Given the description of an element on the screen output the (x, y) to click on. 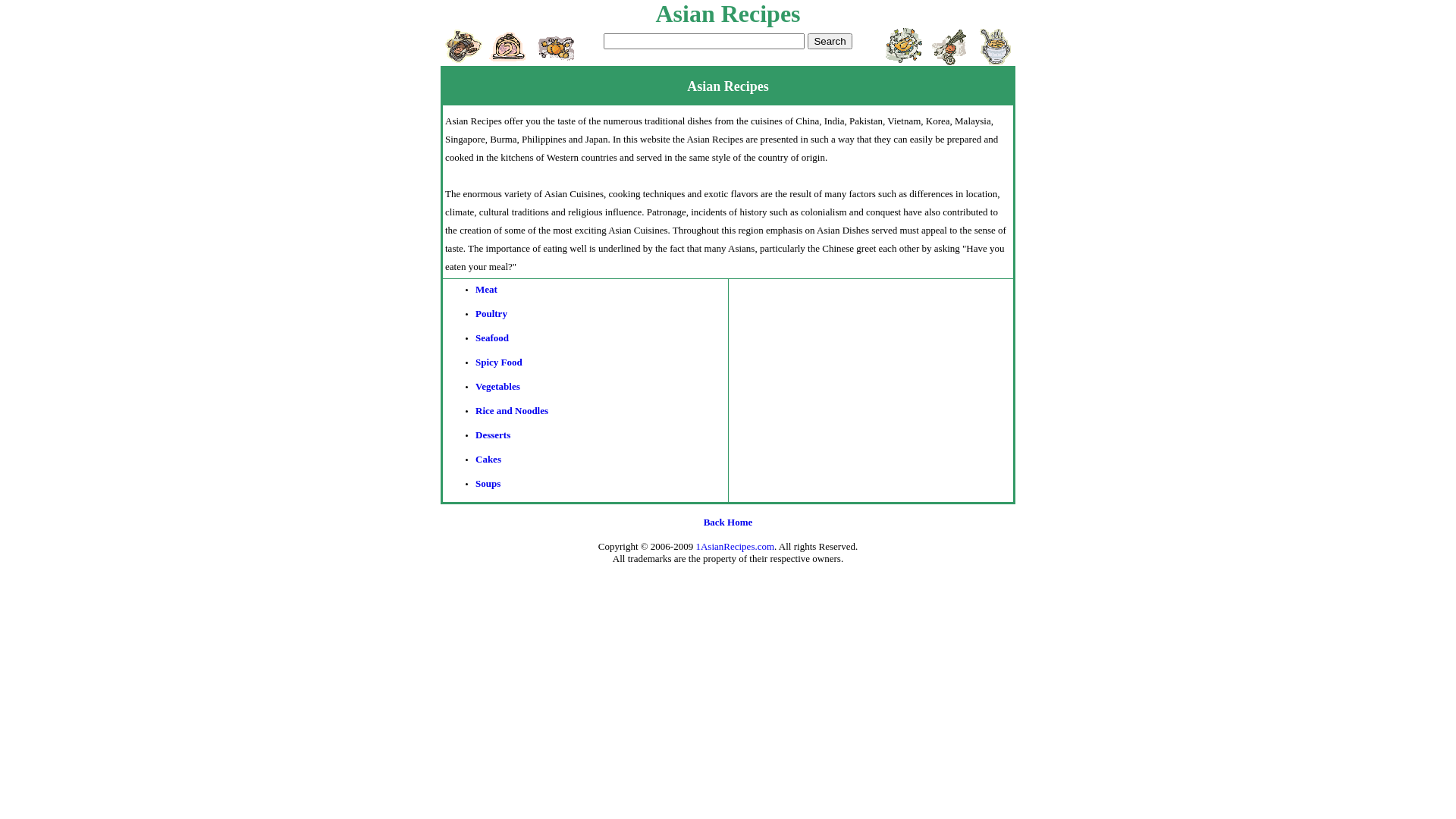
Search Element type: text (829, 41)
Spicy Food Element type: text (498, 361)
Back Home Element type: text (728, 520)
1AsianRecipes.com Element type: text (734, 546)
Meat Element type: text (486, 288)
Seafood Element type: text (491, 337)
Rice and Noodles Element type: text (511, 410)
Vegetables Element type: text (497, 386)
Cakes Element type: text (488, 458)
Soups Element type: text (487, 483)
Poultry Element type: text (491, 313)
Desserts Element type: text (492, 434)
